Given the description of an element on the screen output the (x, y) to click on. 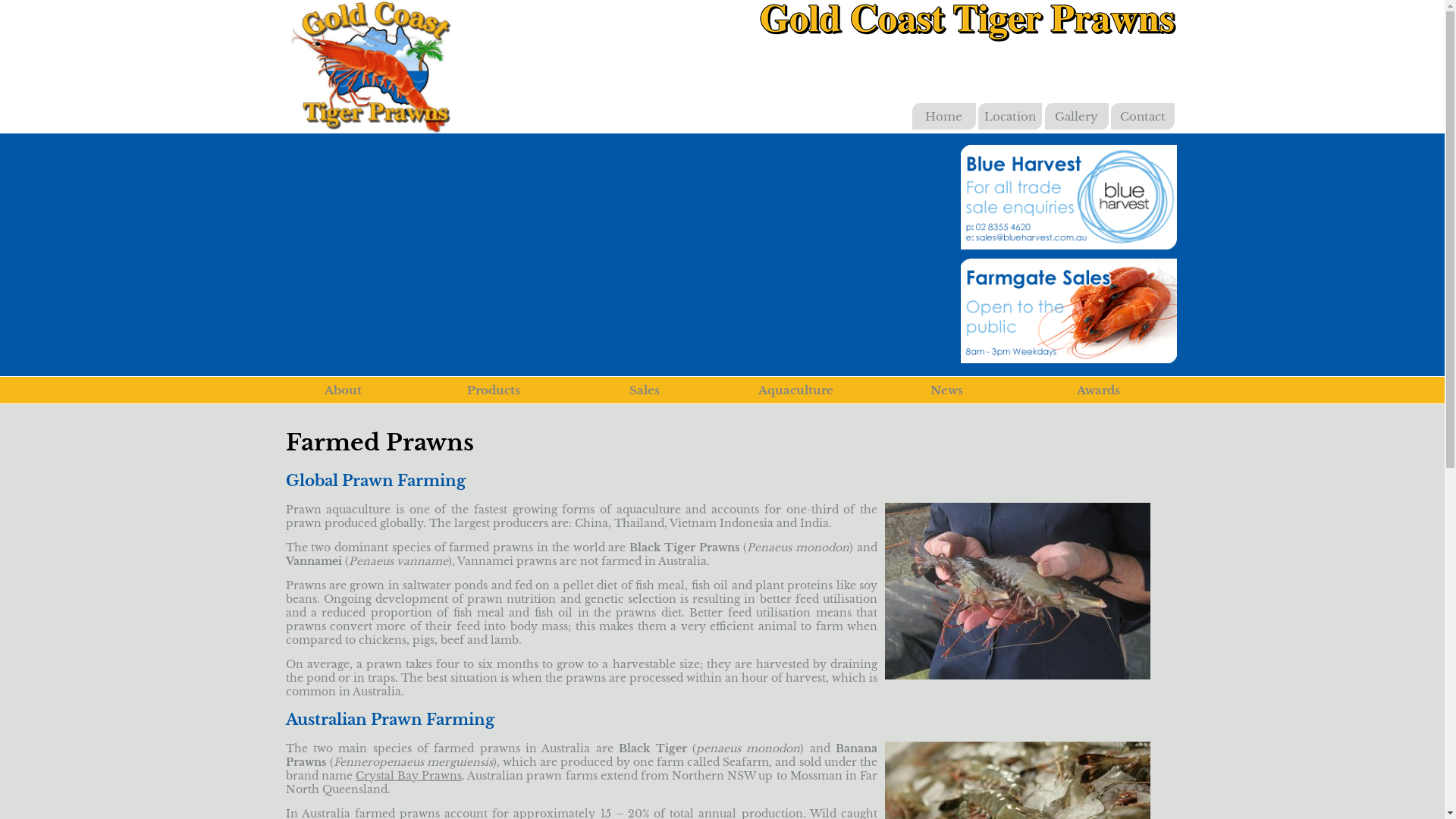
About Element type: text (341, 389)
Sales Element type: text (644, 389)
Location Element type: text (1009, 116)
Products Element type: text (493, 389)
Contact Element type: text (1142, 116)
Home Element type: text (943, 116)
News Element type: text (946, 389)
Awards Element type: text (1097, 389)
Gallery Element type: text (1076, 116)
Aquaculture Element type: text (795, 389)
